Given the description of an element on the screen output the (x, y) to click on. 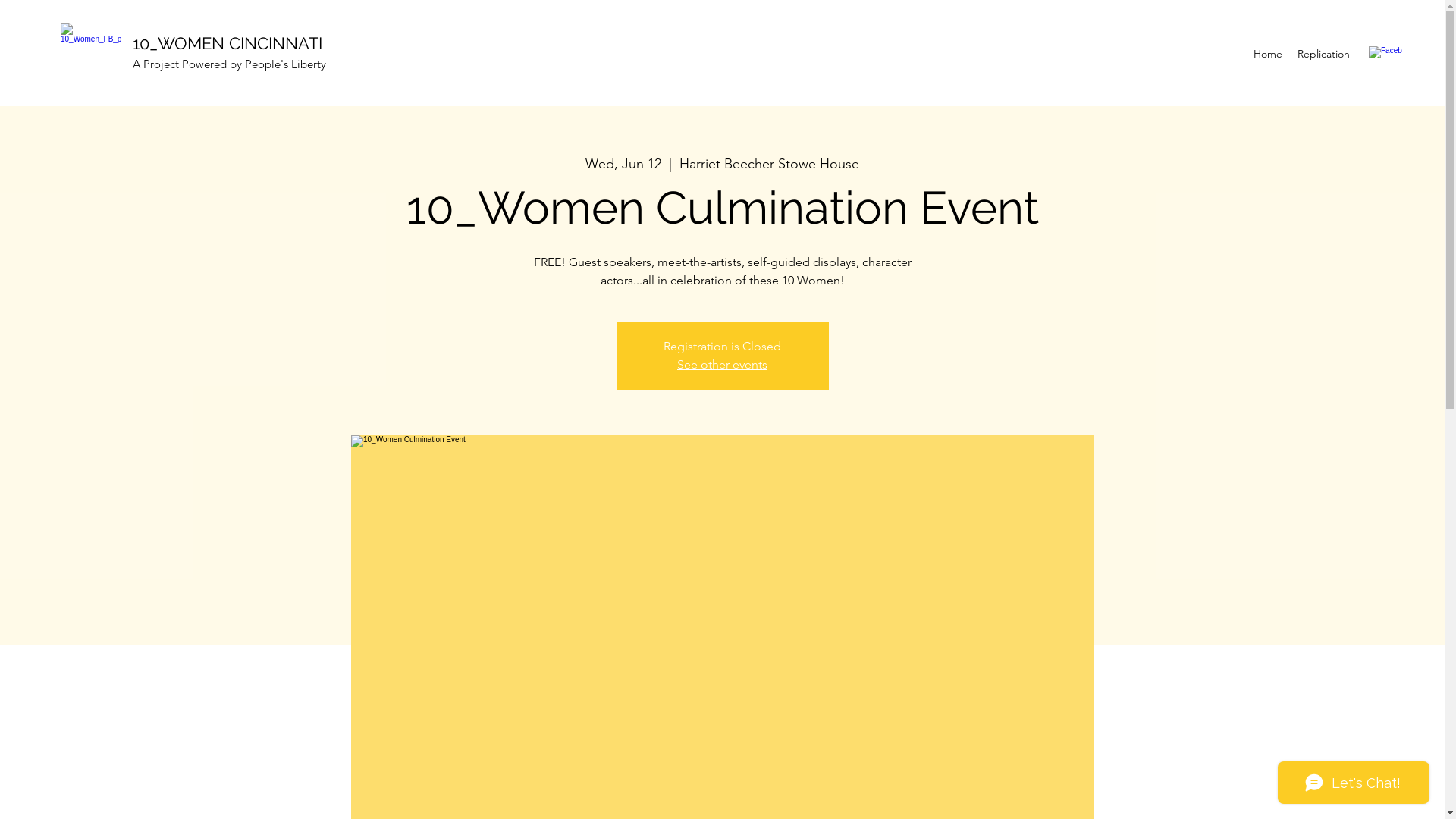
Replication Element type: text (1323, 53)
10_WOMEN CINCINNATI Element type: text (227, 43)
Home Element type: text (1267, 53)
See other events Element type: text (722, 364)
